Given the description of an element on the screen output the (x, y) to click on. 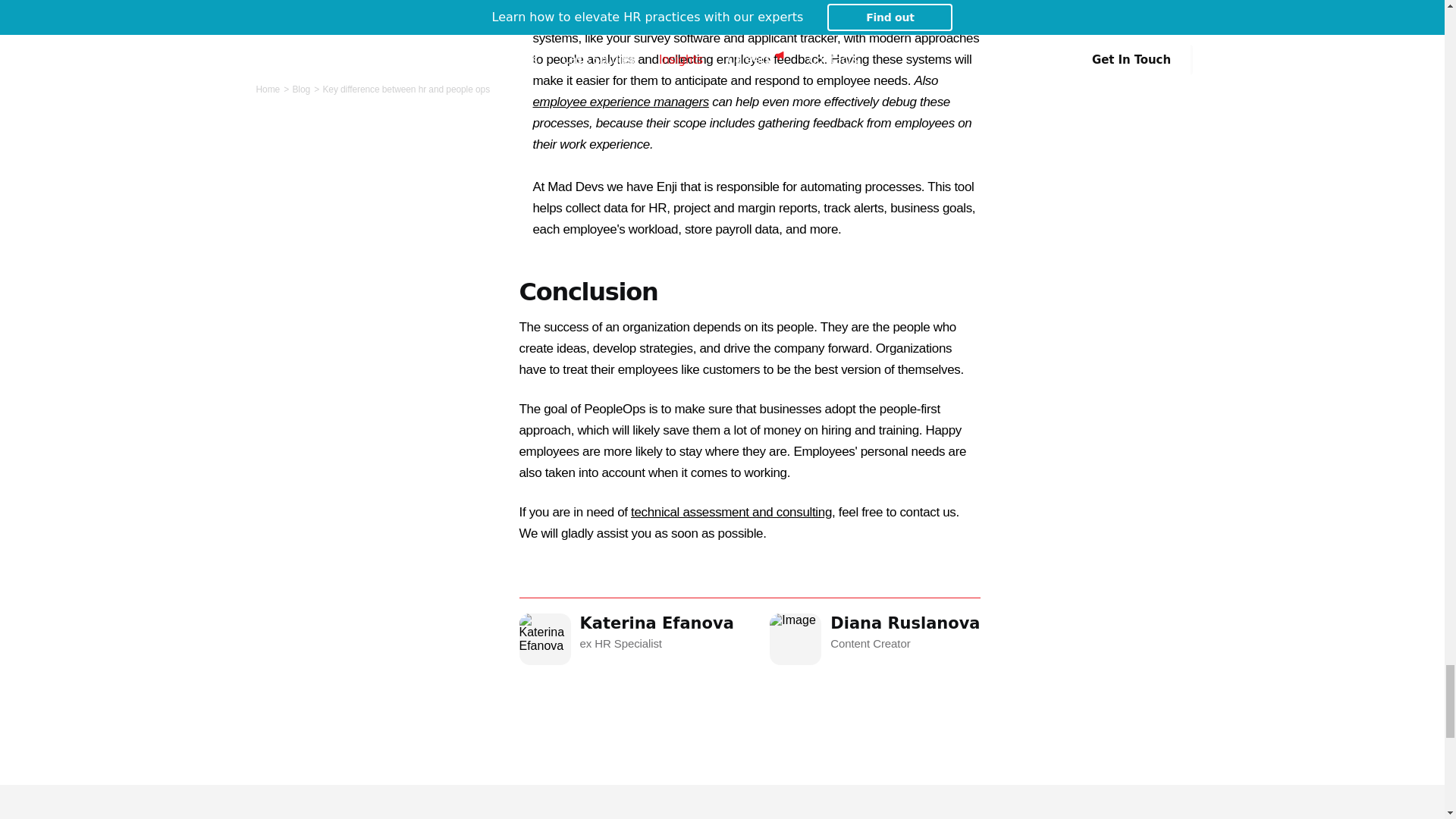
technical assessment and consulting (656, 631)
employee experience managers (730, 512)
